Given the description of an element on the screen output the (x, y) to click on. 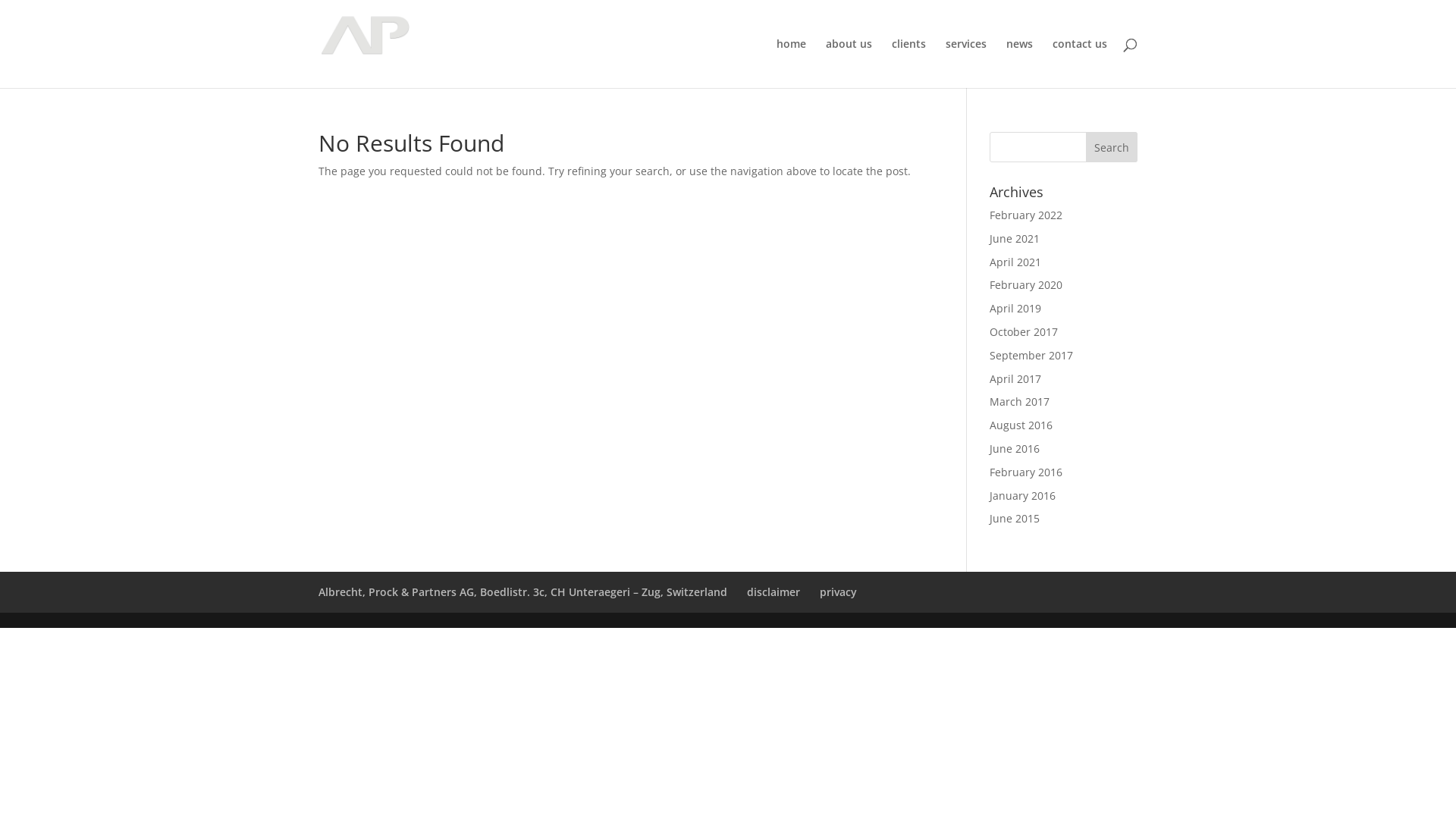
Search Element type: text (1111, 146)
April 2019 Element type: text (1015, 308)
privacy Element type: text (837, 591)
September 2017 Element type: text (1031, 355)
clients Element type: text (908, 62)
January 2016 Element type: text (1022, 495)
April 2017 Element type: text (1015, 378)
April 2021 Element type: text (1015, 261)
services Element type: text (965, 62)
June 2021 Element type: text (1014, 238)
February 2020 Element type: text (1025, 284)
June 2015 Element type: text (1014, 518)
October 2017 Element type: text (1023, 331)
news Element type: text (1019, 62)
February 2016 Element type: text (1025, 471)
June 2016 Element type: text (1014, 448)
home Element type: text (791, 62)
March 2017 Element type: text (1019, 401)
February 2022 Element type: text (1025, 214)
about us Element type: text (848, 62)
disclaimer Element type: text (773, 591)
contact us Element type: text (1079, 62)
August 2016 Element type: text (1020, 424)
